Given the description of an element on the screen output the (x, y) to click on. 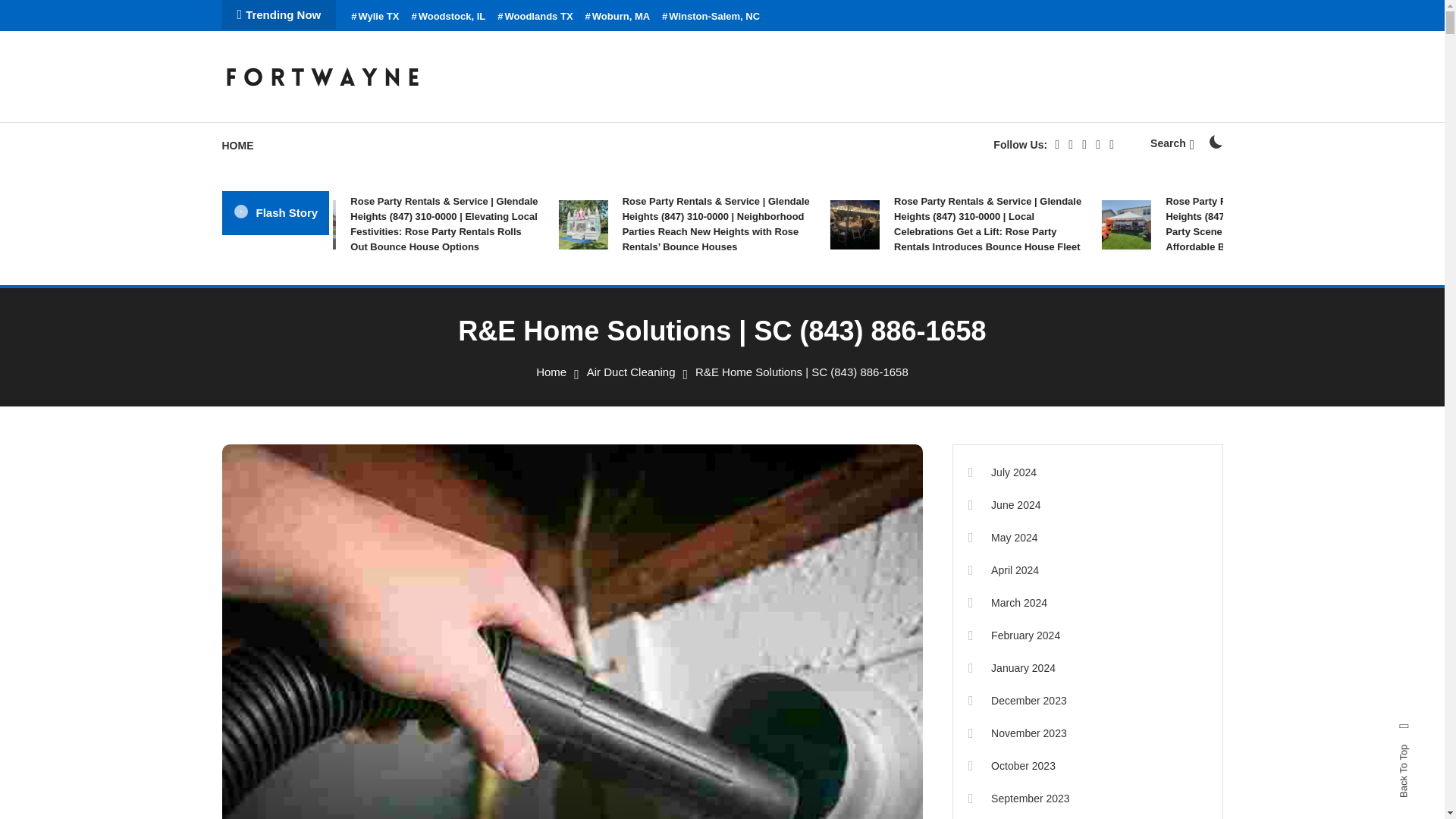
Search (1171, 143)
Wylie TX (374, 16)
on (1215, 141)
Woburn, MA (617, 16)
HOME (244, 145)
Woodlands TX (534, 16)
Air Duct Cleaning (630, 371)
Woodstock, IL (447, 16)
Search (768, 434)
Home (550, 371)
Winston-Salem, NC (711, 16)
